Given the description of an element on the screen output the (x, y) to click on. 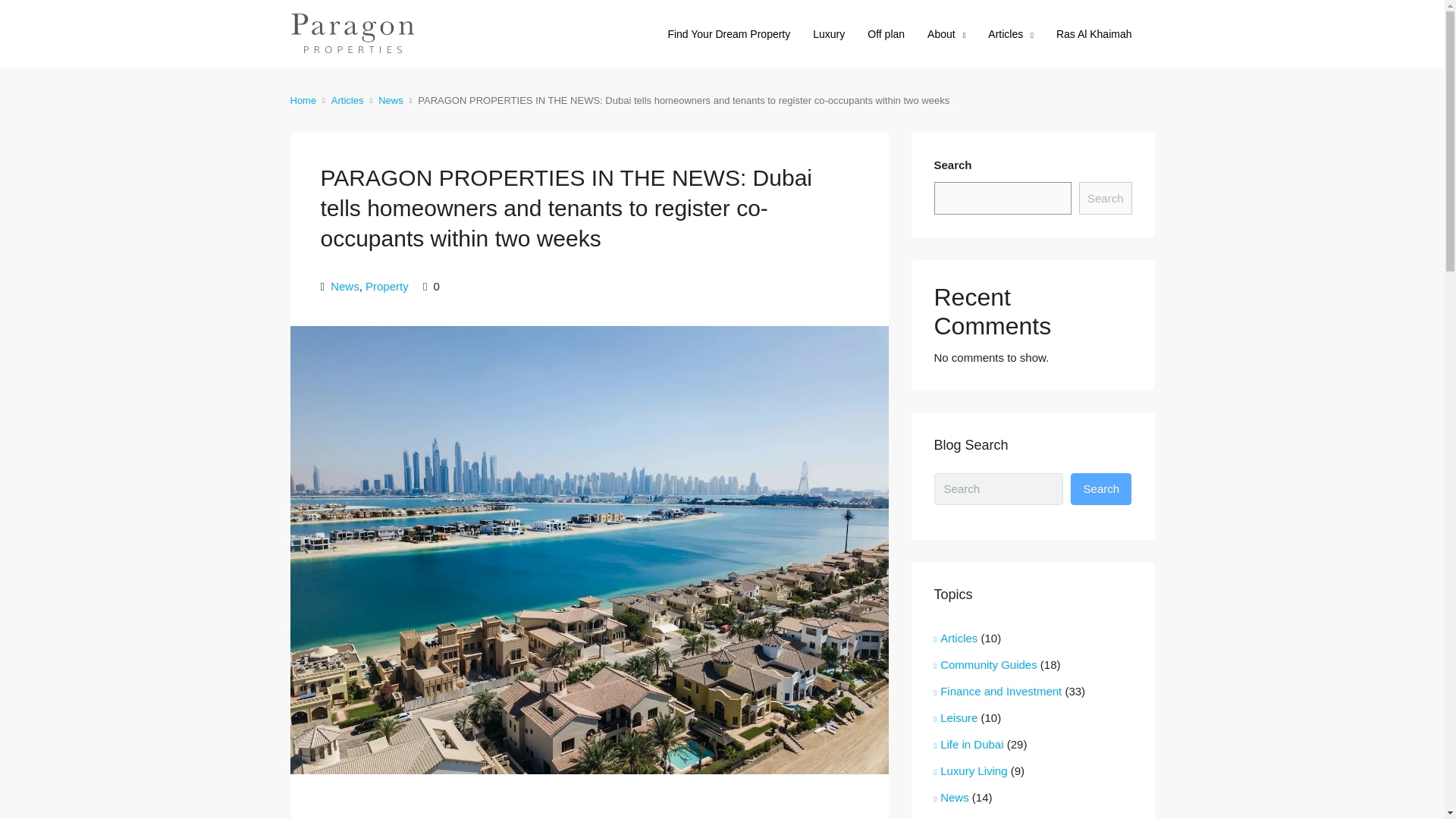
Articles (1010, 34)
Ras Al Khaimah (1093, 33)
News (344, 286)
Home (302, 99)
Articles (347, 99)
News (390, 99)
Find Your Dream Property (729, 33)
Property (387, 286)
